Given the description of an element on the screen output the (x, y) to click on. 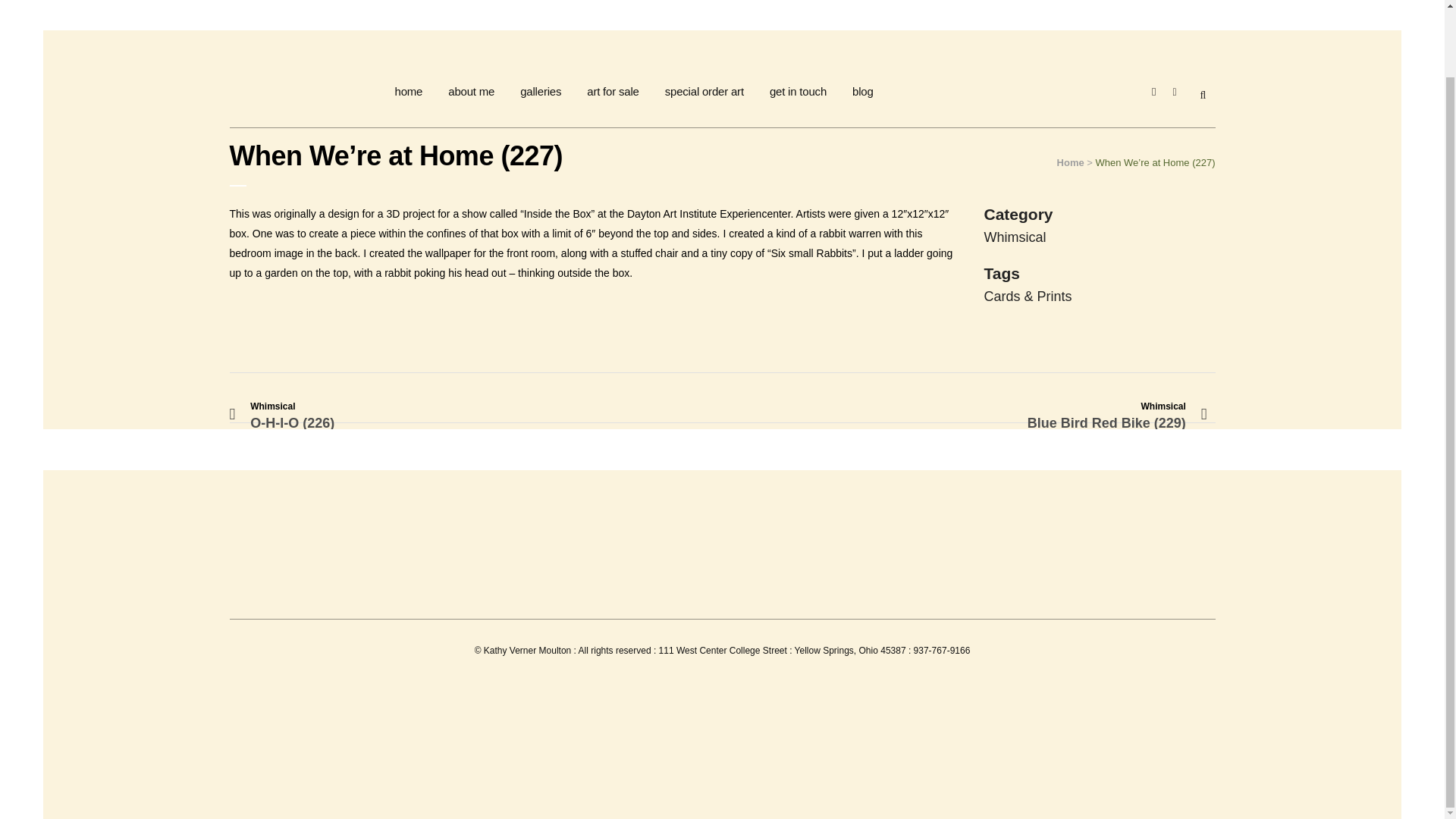
special order art (704, 91)
about me (470, 91)
get in touch (798, 91)
galleries (539, 91)
art for sale (611, 91)
